Given the description of an element on the screen output the (x, y) to click on. 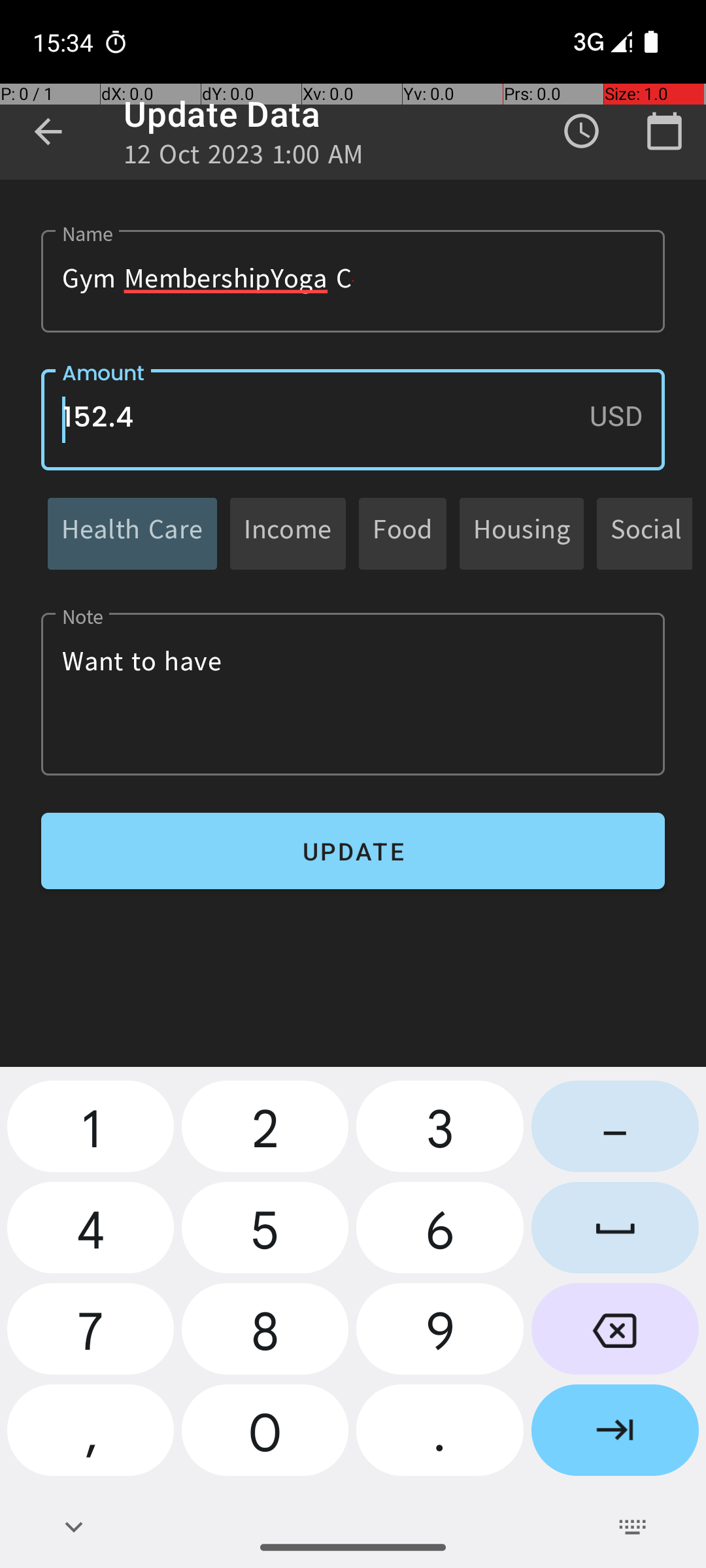
12 Oct 2023 1:00 AM Element type: android.widget.TextView (243, 157)
Gym MembershipYoga C Element type: android.widget.EditText (352, 280)
152.4 Element type: android.widget.EditText (352, 419)
Health Care Element type: android.widget.TextView (132, 533)
